Given the description of an element on the screen output the (x, y) to click on. 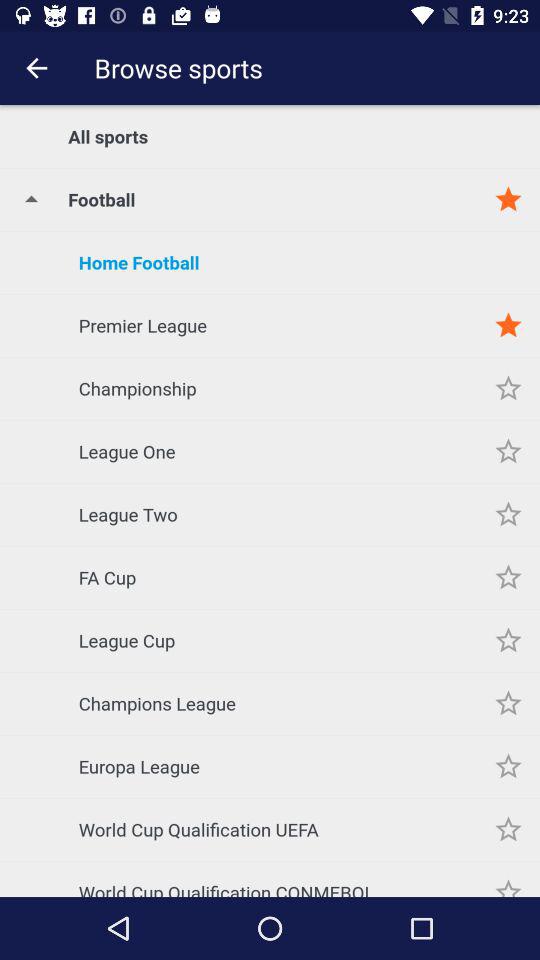
add to favorites (508, 879)
